Given the description of an element on the screen output the (x, y) to click on. 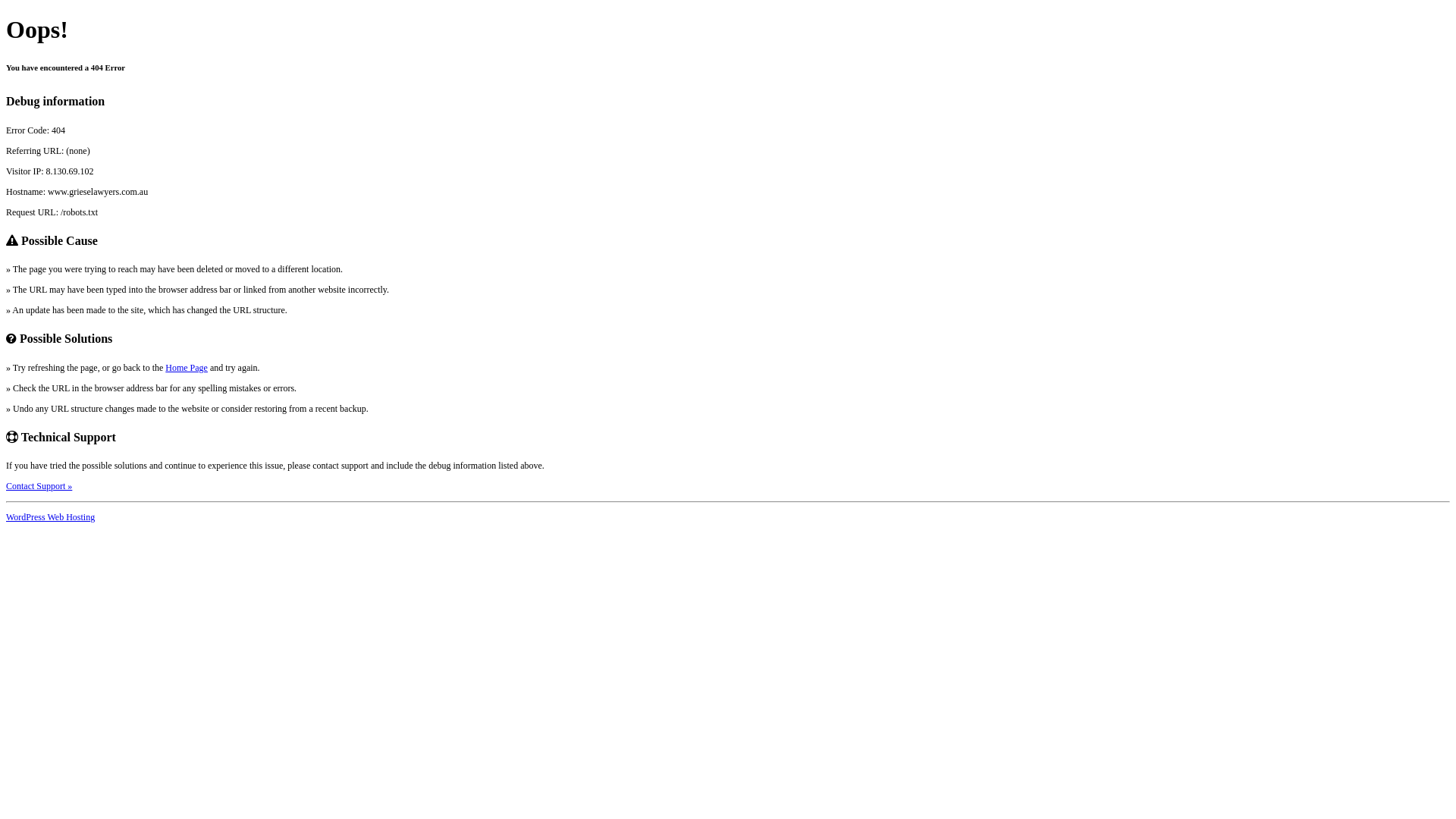
Home Page Element type: text (186, 367)
WordPress Web Hosting Element type: text (50, 516)
